Given the description of an element on the screen output the (x, y) to click on. 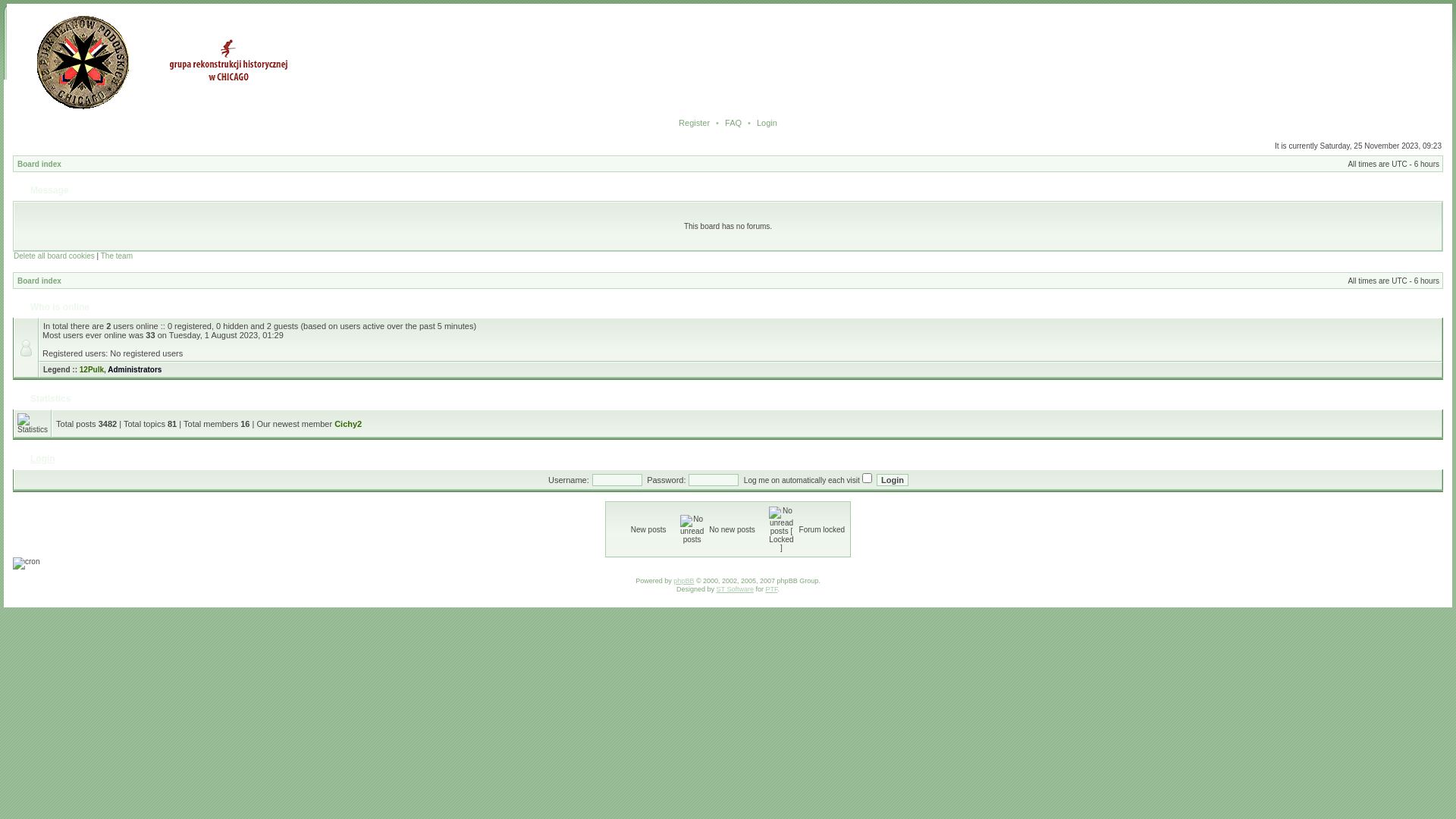
ST Software Element type: text (734, 589)
phpBB Element type: text (683, 580)
Board index Element type: text (39, 280)
FAQ Element type: text (733, 122)
Login Element type: text (42, 458)
Administrators Element type: text (134, 369)
12Pulk Element type: text (91, 369)
Login Element type: text (767, 122)
Cichy2 Element type: text (347, 422)
The team Element type: text (116, 255)
No unread posts Element type: hover (691, 528)
Delete all board cookies Element type: text (53, 255)
PTF Element type: text (771, 589)
Board index Element type: text (39, 164)
No unread posts [ Locked ] Element type: hover (780, 529)
Login Element type: text (892, 479)
Register Element type: text (693, 122)
